Given the description of an element on the screen output the (x, y) to click on. 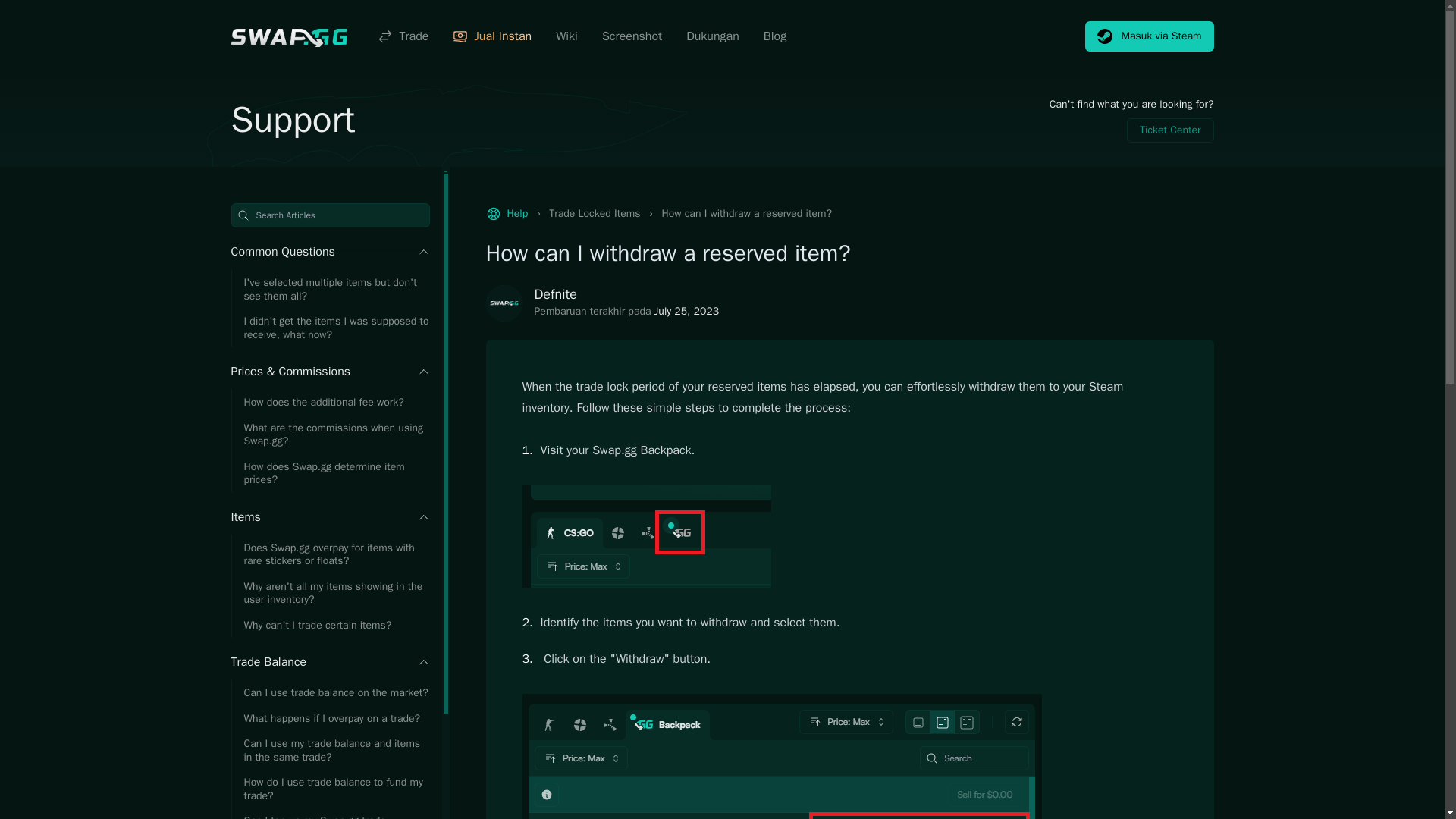
Why can't I trade certain items? (329, 625)
Blog (774, 36)
How does the additional fee work? (329, 402)
Can I use trade balance on the market? (329, 692)
Screenshot (631, 36)
Masuk via Steam (1149, 36)
Dukungan (712, 36)
Jual Instan (491, 36)
Common Questions (329, 251)
Trade (402, 36)
Can I top up my Swap.gg trade balance? (329, 813)
What are the commissions when using Swap.gg? (329, 434)
Why aren't all my items showing in the user inventory? (329, 592)
How do I use trade balance to fund my trade? (329, 788)
How does Swap.gg determine item prices? (329, 472)
